Given the description of an element on the screen output the (x, y) to click on. 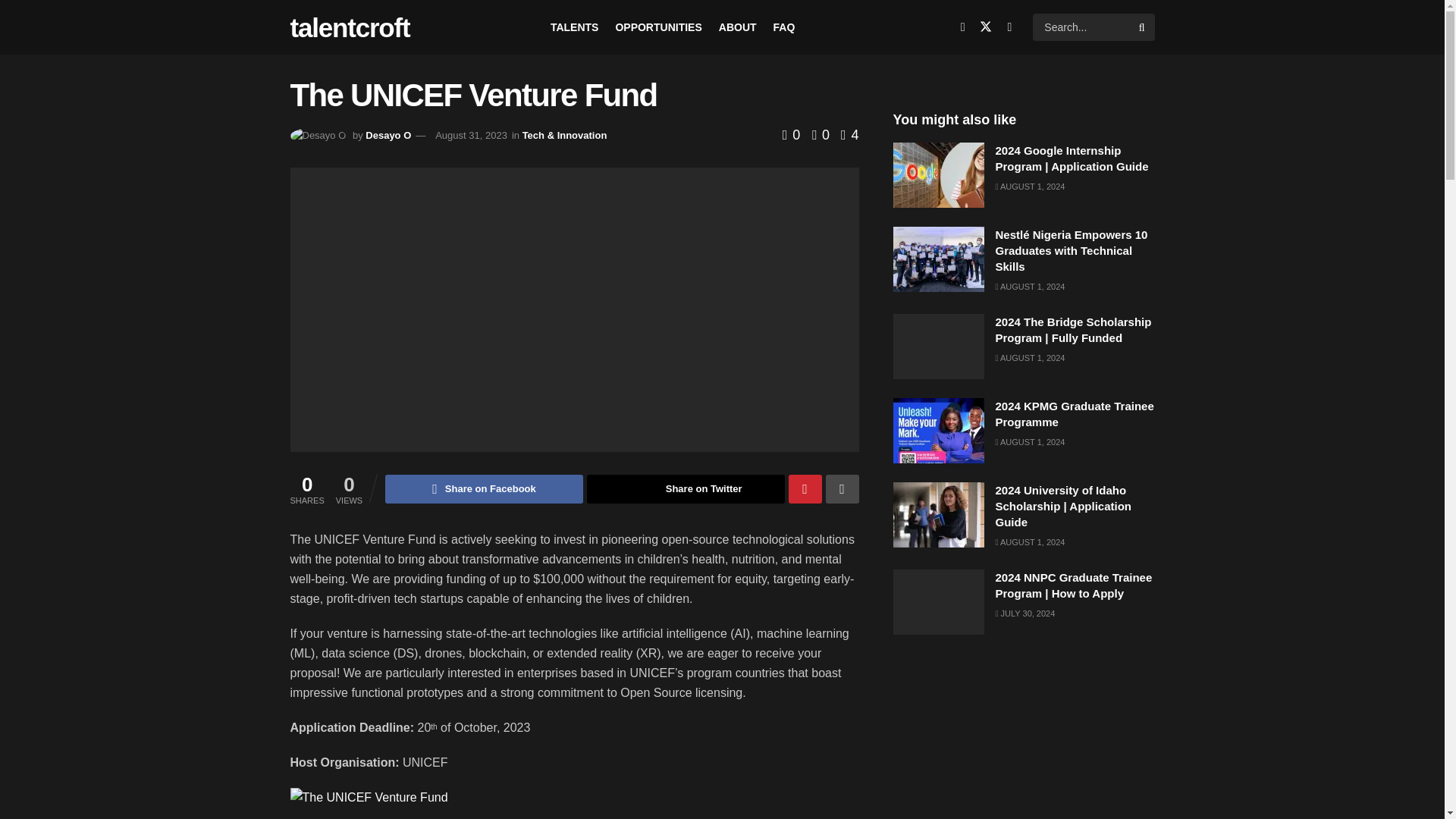
4 (850, 134)
0 (816, 134)
TALENTS (574, 27)
Share on Twitter (685, 489)
Share on Facebook (484, 489)
Desayo O (387, 134)
talentcroft (349, 26)
August 31, 2023 (470, 134)
OPPORTUNITIES (657, 27)
0 (794, 134)
